Given the description of an element on the screen output the (x, y) to click on. 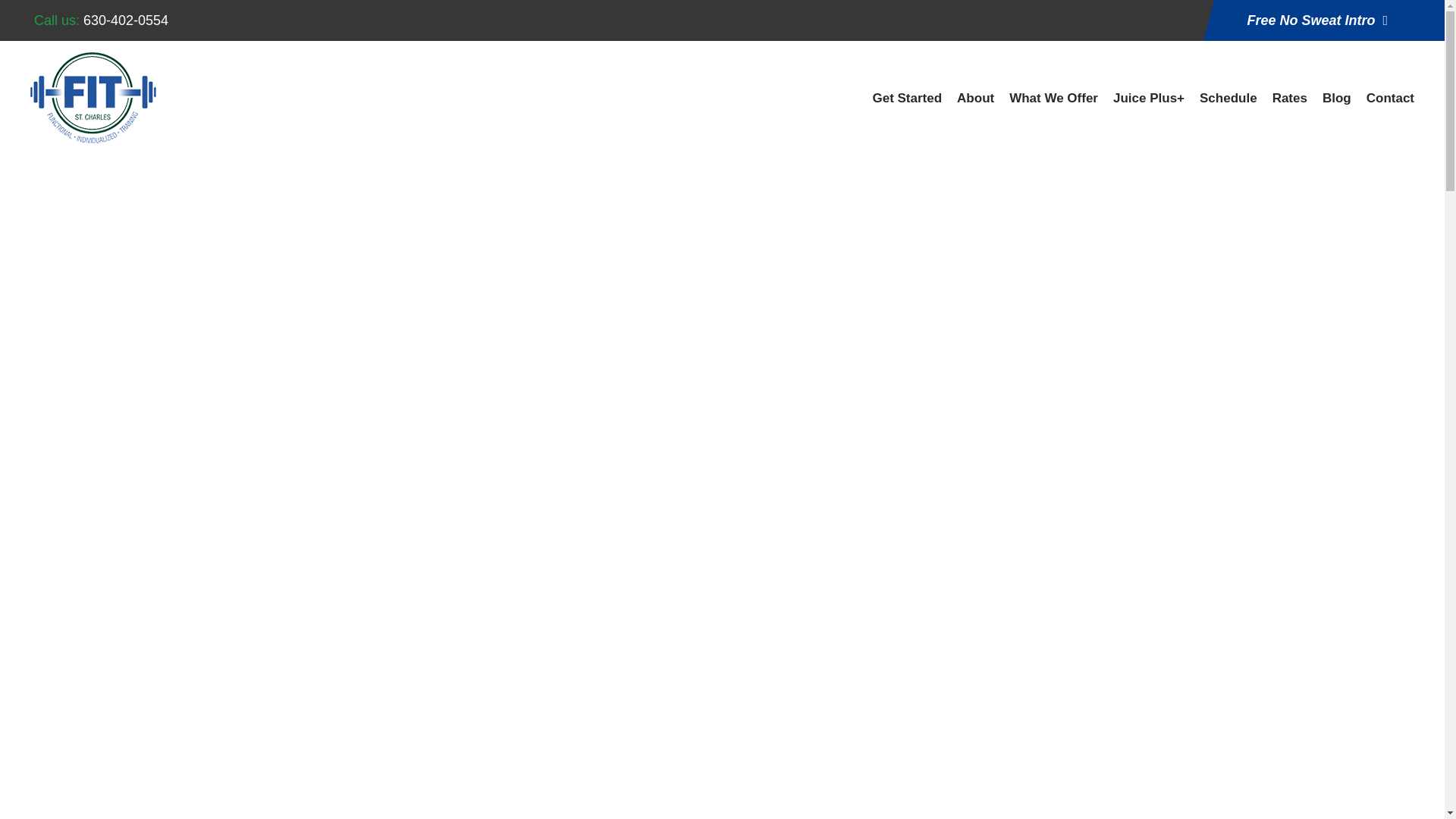
What We Offer (1053, 106)
630-402-0554 (125, 20)
Contact (1390, 106)
Get Started (907, 106)
Rates (1289, 106)
Schedule (1228, 106)
Free No Sweat Intro (1316, 20)
About (975, 106)
